Given the description of an element on the screen output the (x, y) to click on. 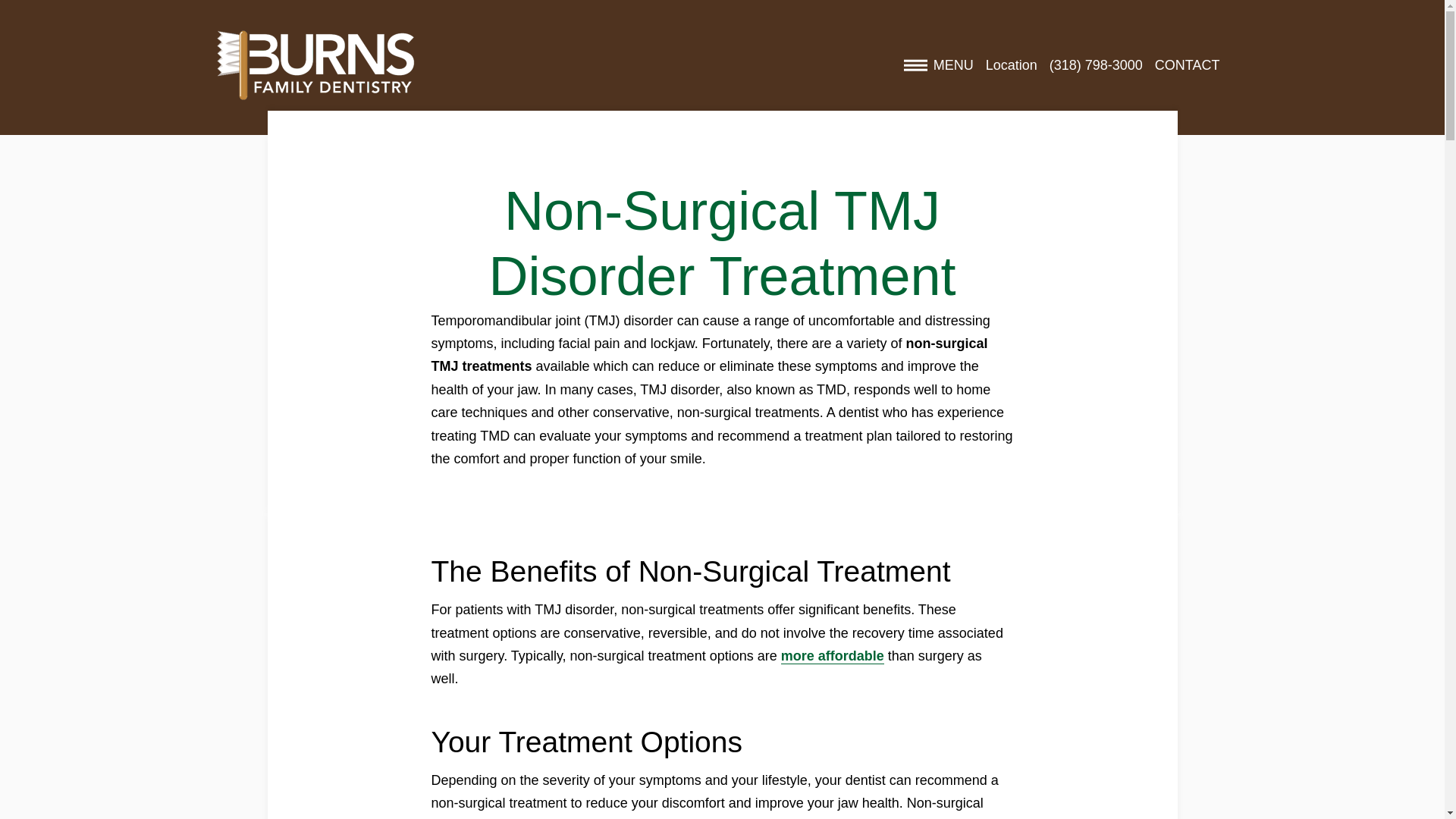
MENU (939, 65)
more affordable (831, 656)
CONTACT (1187, 65)
